Given the description of an element on the screen output the (x, y) to click on. 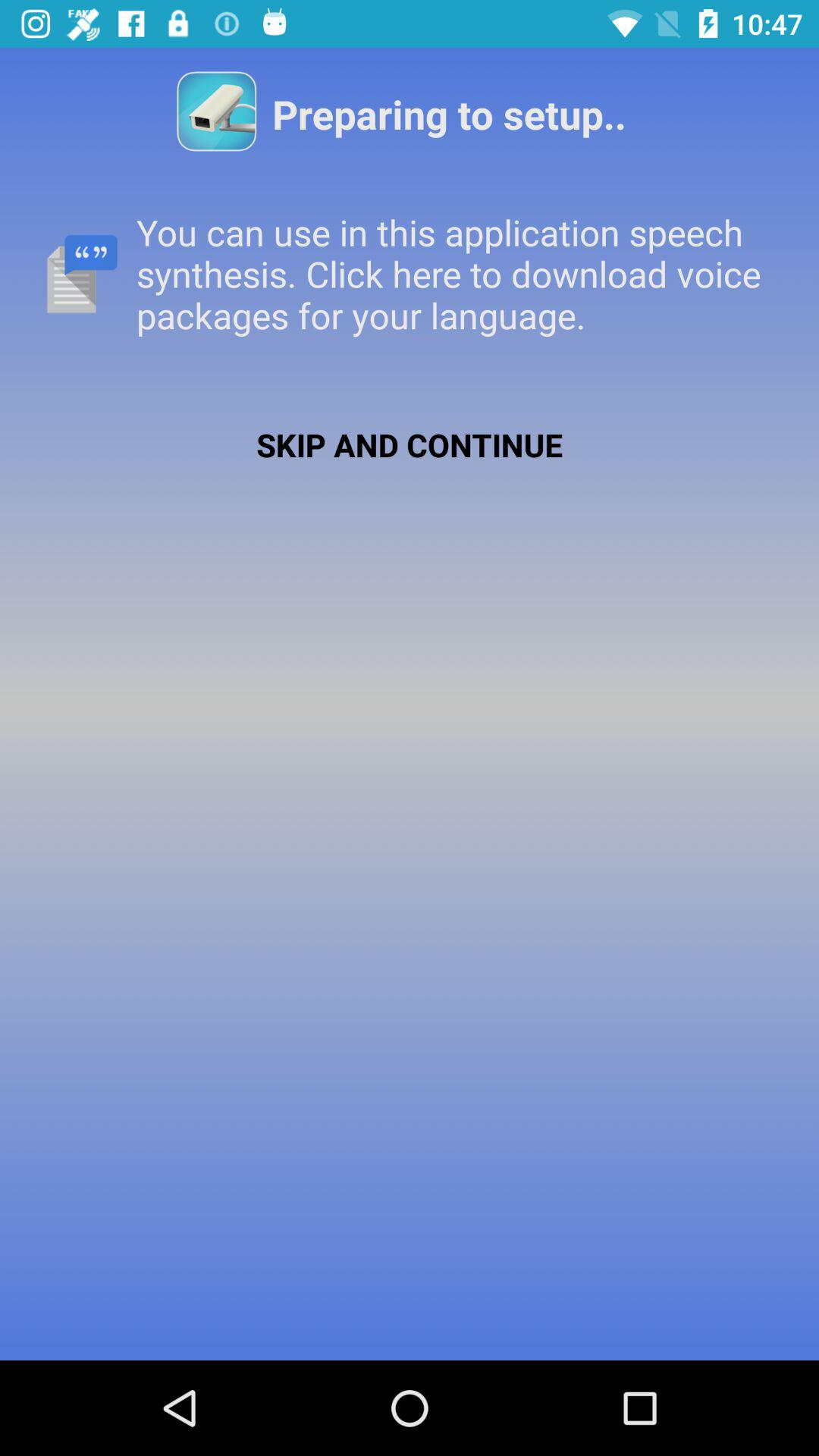
swipe until the skip and continue icon (409, 444)
